Given the description of an element on the screen output the (x, y) to click on. 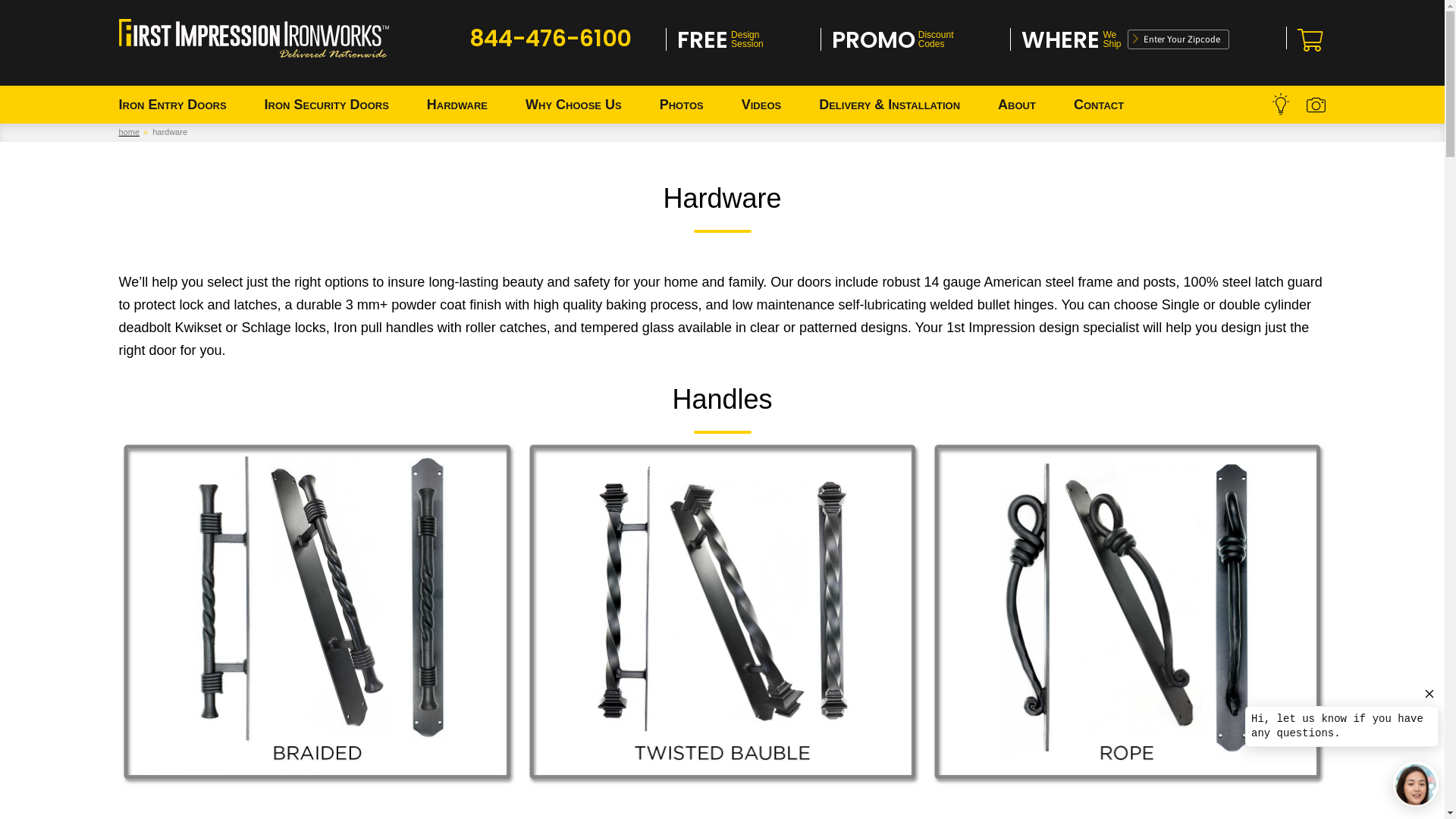
Why Choose Us Element type: text (573, 104)
Iron Entry Doors Element type: text (172, 104)
PROMO
Discount
Codes Element type: text (892, 40)
Hardware Element type: text (456, 104)
home Element type: text (128, 131)
WHERE Element type: text (1060, 40)
844-476-6100 Element type: text (550, 38)
About Element type: text (1016, 104)
Iron Security Doors Element type: text (326, 104)
Photos Element type: text (681, 104)
Videos Element type: text (761, 104)
FREE
Design
Session Element type: text (720, 40)
Contact Element type: text (1098, 104)
We
Ship Element type: text (1109, 40)
Delivery & Installation Element type: text (889, 104)
